Given the description of an element on the screen output the (x, y) to click on. 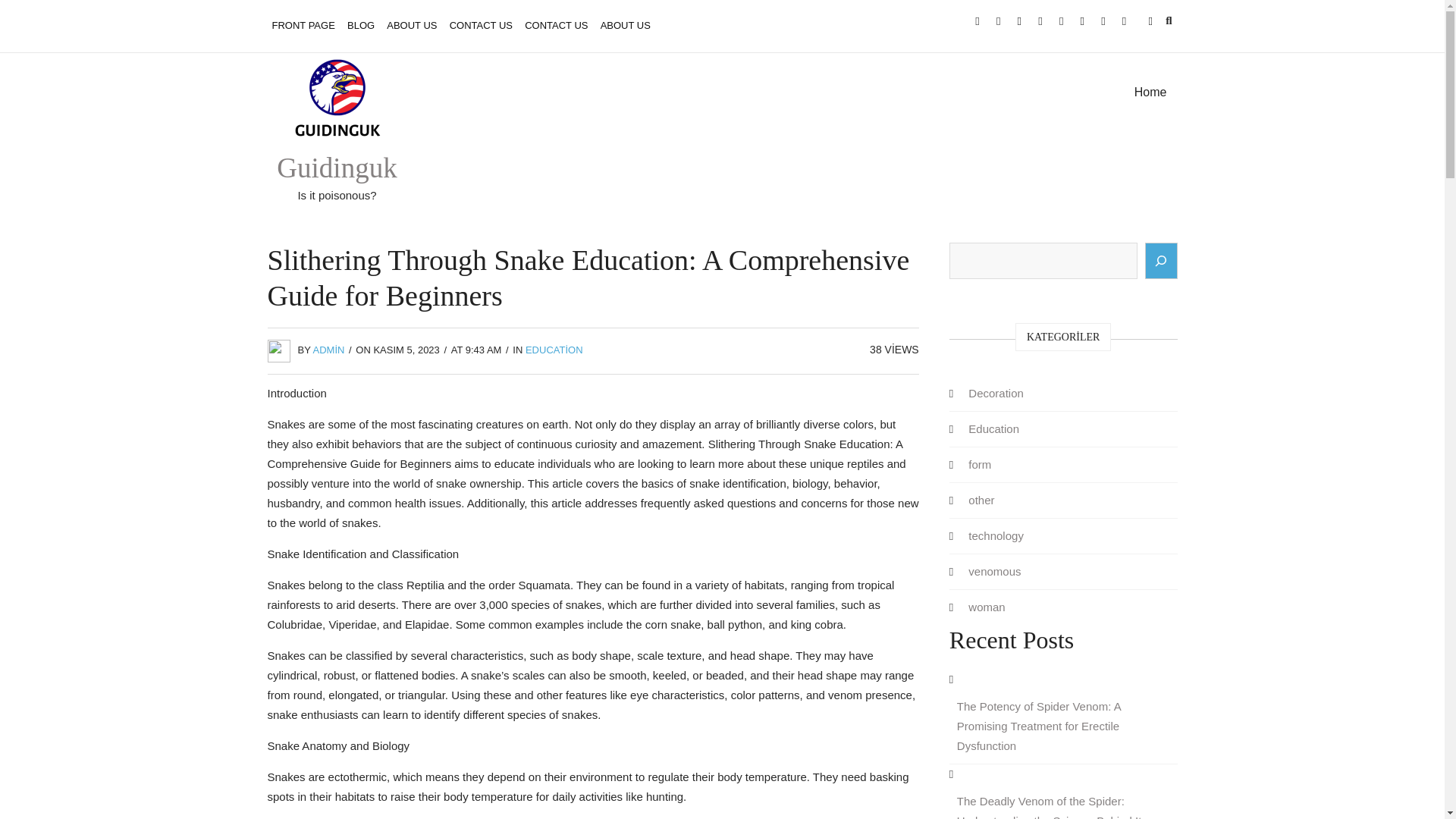
ABOUT US (411, 25)
BLOG (360, 25)
Guidinguk (336, 167)
Education (993, 428)
Guidinguk (336, 167)
form (979, 464)
technology (995, 535)
Home (1150, 92)
EDUCATION (554, 349)
CONTACT US (480, 25)
